Given the description of an element on the screen output the (x, y) to click on. 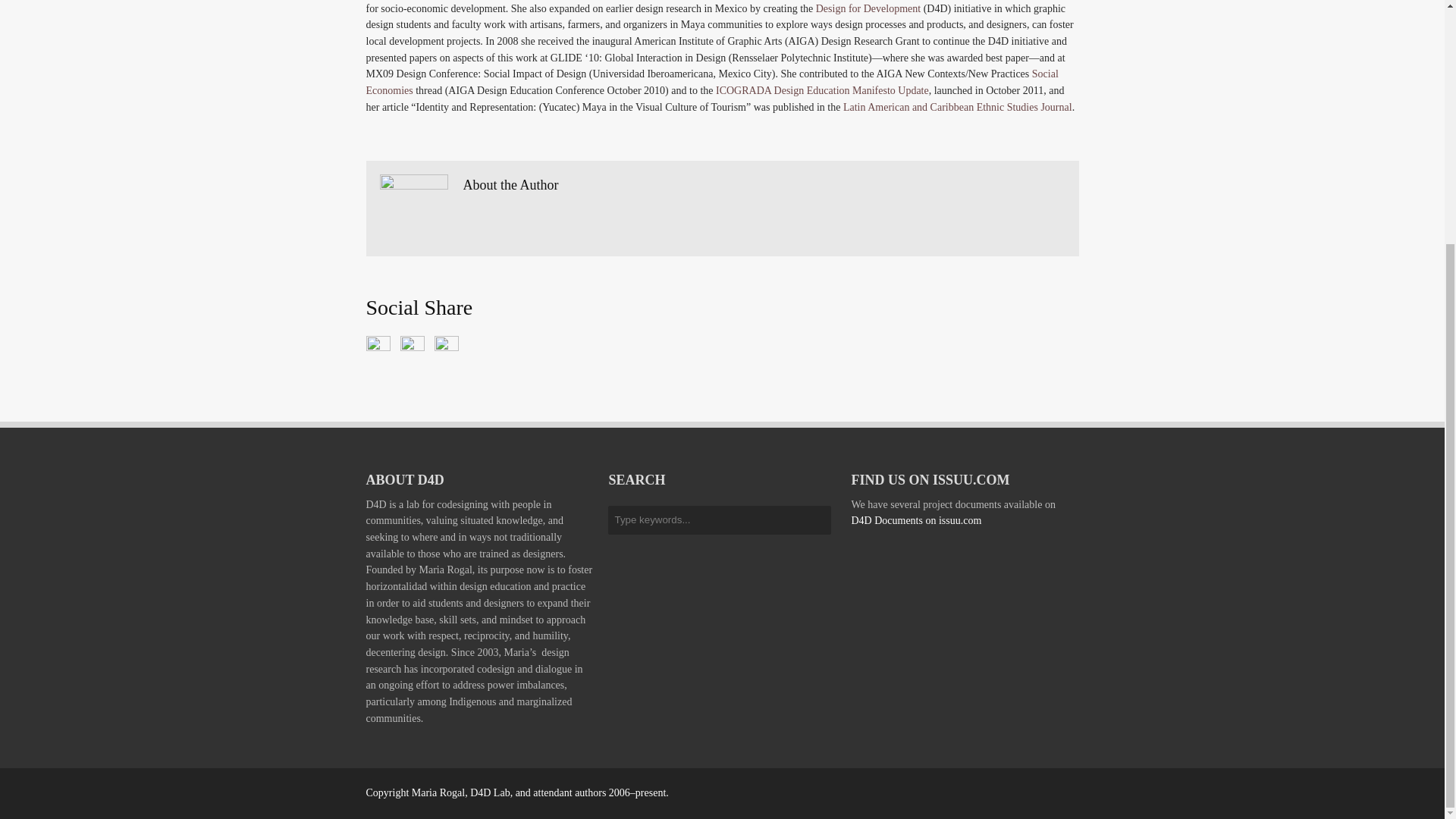
Social Economies (711, 81)
Design for Development (867, 7)
D4D Documents on issuu.com (915, 520)
Latin American and Caribbean Ethnic Studies Journal (957, 107)
Type keywords... (719, 520)
ICOGRADA Design Education Manifesto Update (822, 90)
